Given the description of an element on the screen output the (x, y) to click on. 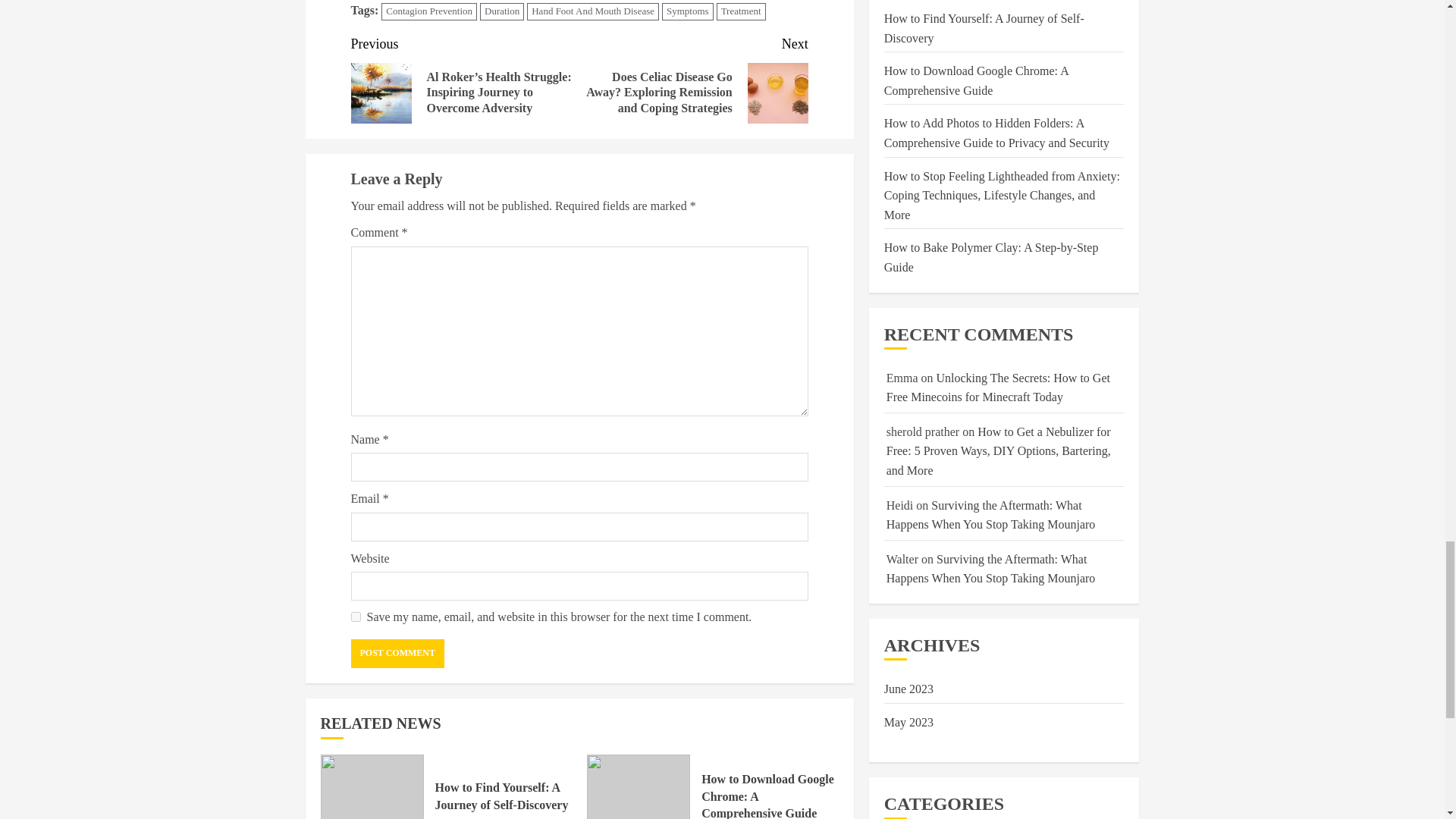
Hand Foot And Mouth Disease (593, 11)
Treatment (740, 11)
How to Find Yourself: A Journey of Self-Discovery (371, 786)
How to Find Yourself: A Journey of Self-Discovery (502, 796)
How to Download Google Chrome: A Comprehensive Guide (638, 786)
Duration (502, 11)
Post Comment (397, 653)
Post Comment (397, 653)
How to Download Google Chrome: A Comprehensive Guide (767, 796)
Contagion Prevention (429, 11)
yes (354, 616)
Symptoms (687, 11)
